Given the description of an element on the screen output the (x, y) to click on. 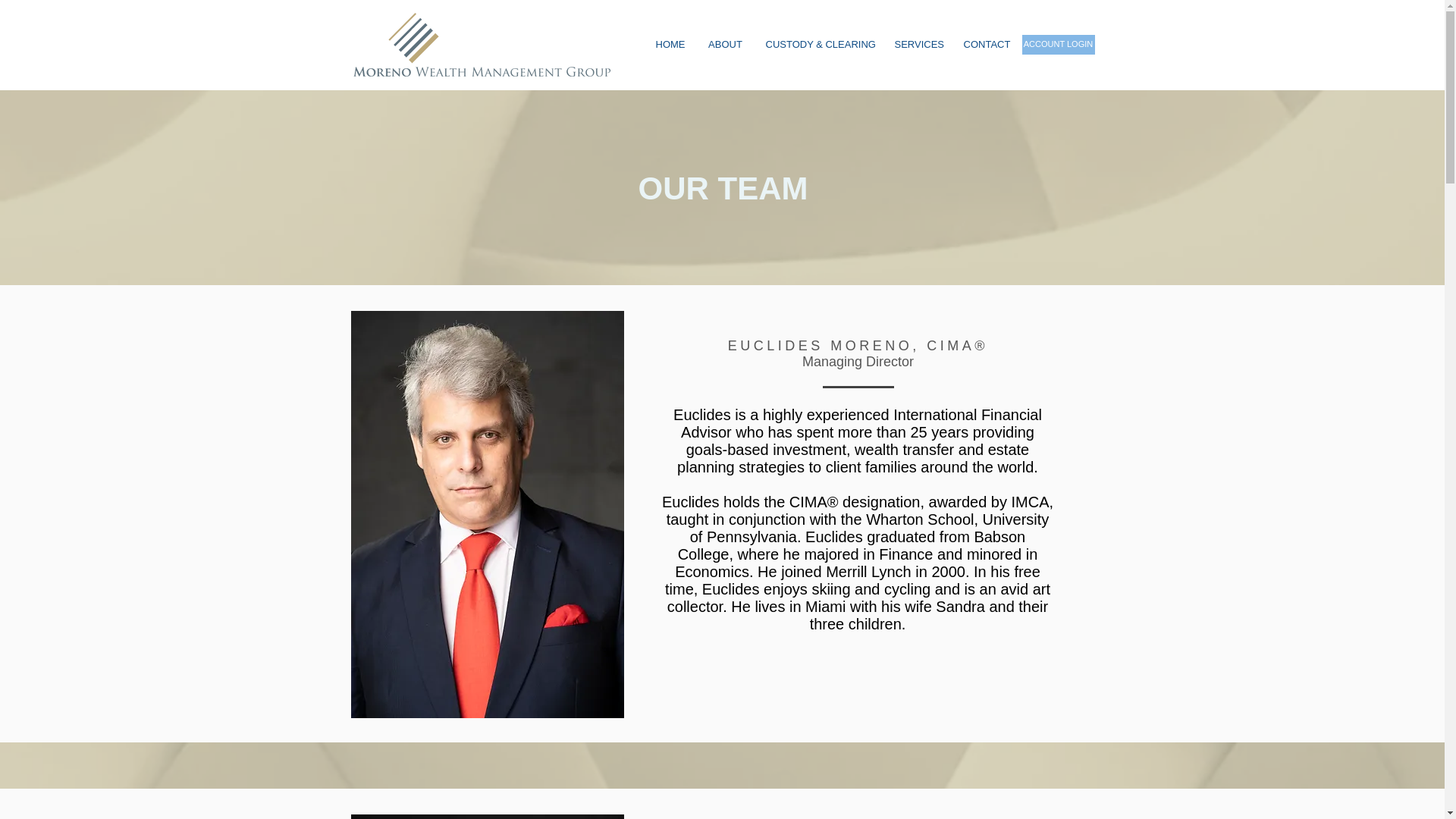
HOME (671, 44)
SERVICES (917, 44)
ABOUT (724, 44)
ACCOUNT LOGIN (1058, 44)
CONTACT (987, 44)
